Given the description of an element on the screen output the (x, y) to click on. 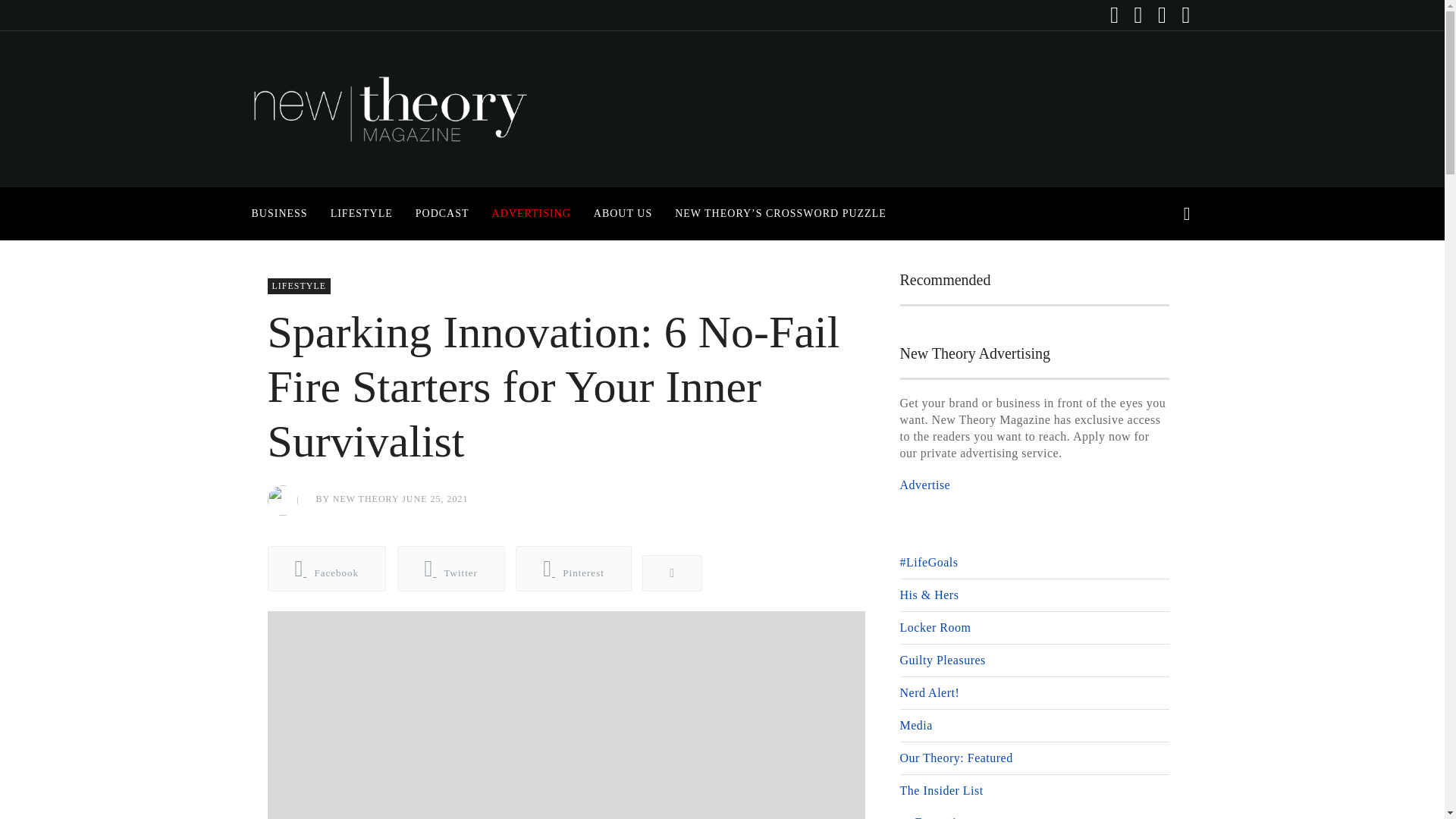
View all posts in 3846 (298, 286)
